Given the description of an element on the screen output the (x, y) to click on. 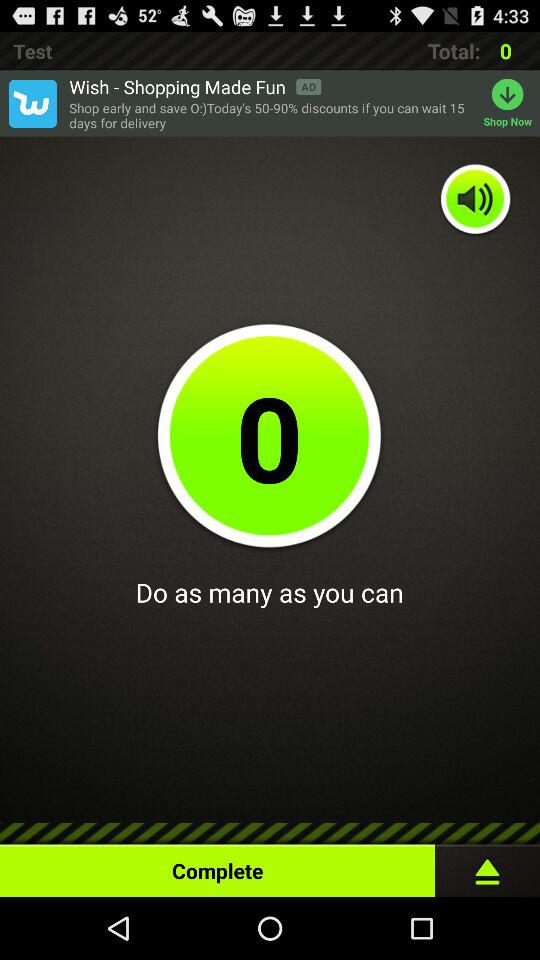
press icon next to the shop now icon (271, 115)
